Given the description of an element on the screen output the (x, y) to click on. 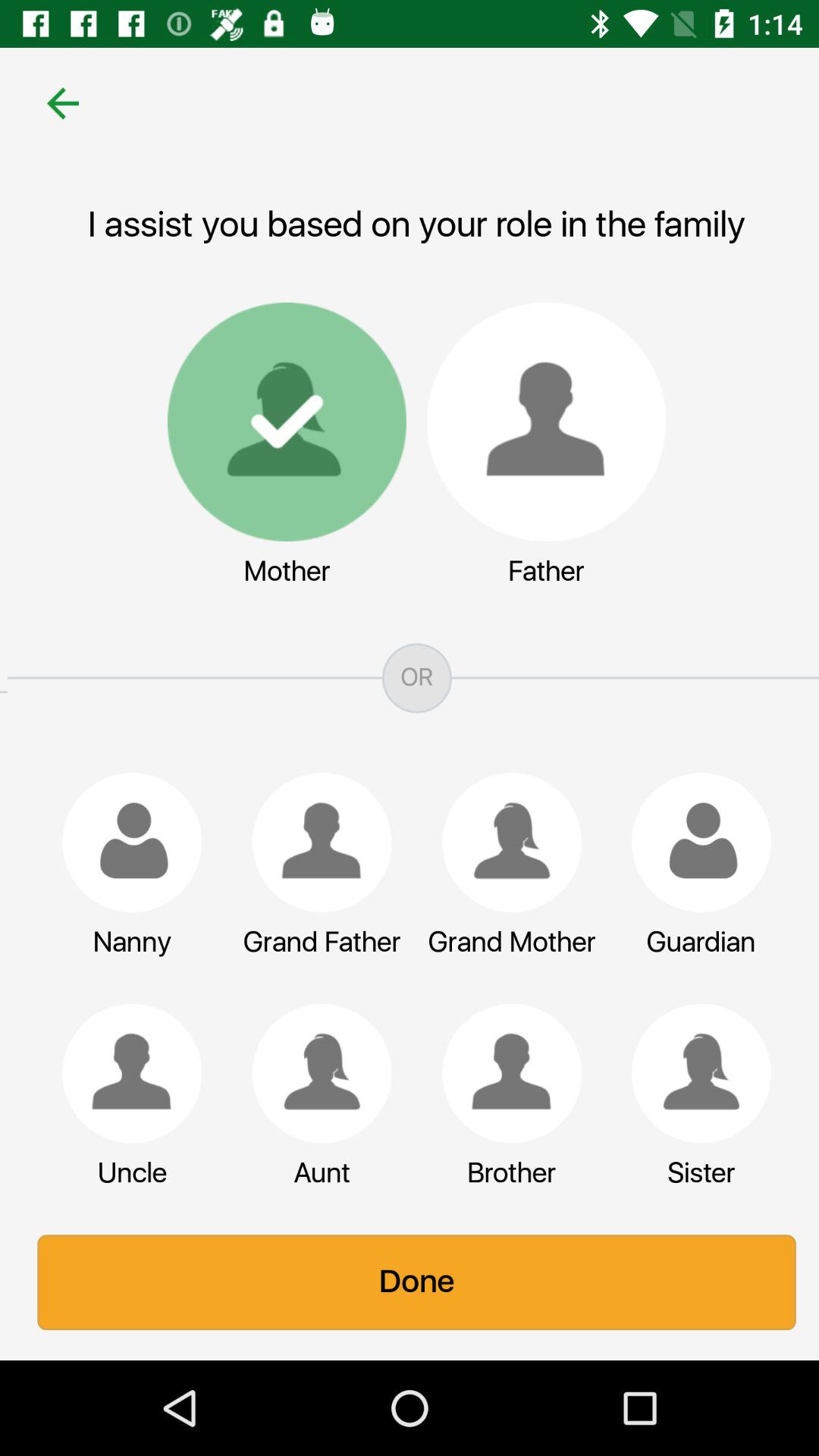
aunt in relation to the mother (314, 1073)
